Given the description of an element on the screen output the (x, y) to click on. 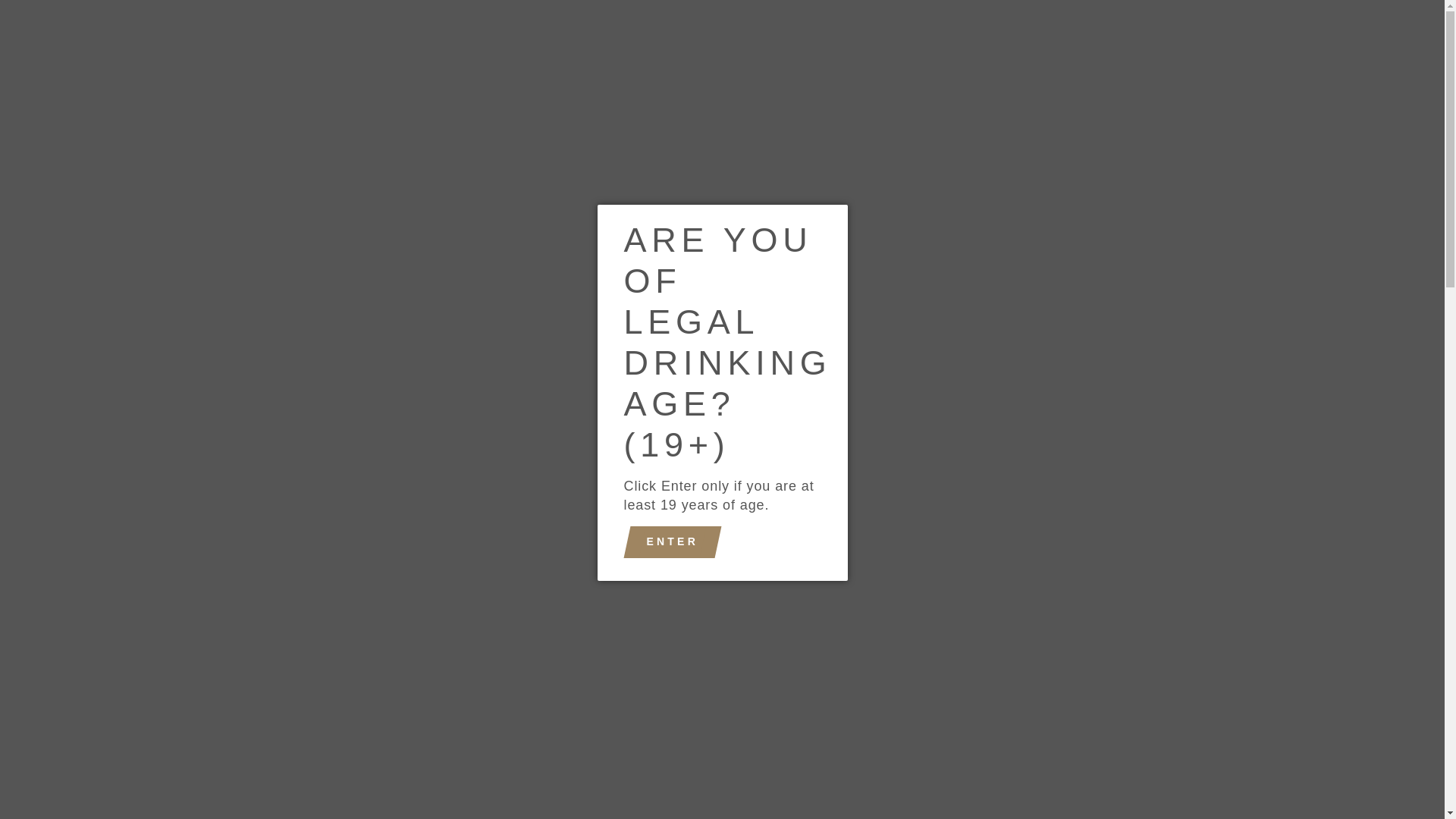
Tweet on Twitter (724, 791)
Share on Facebook (644, 791)
HOME (409, 99)
SHOP NOW (502, 99)
Pin on Pinterest (801, 791)
